Given the description of an element on the screen output the (x, y) to click on. 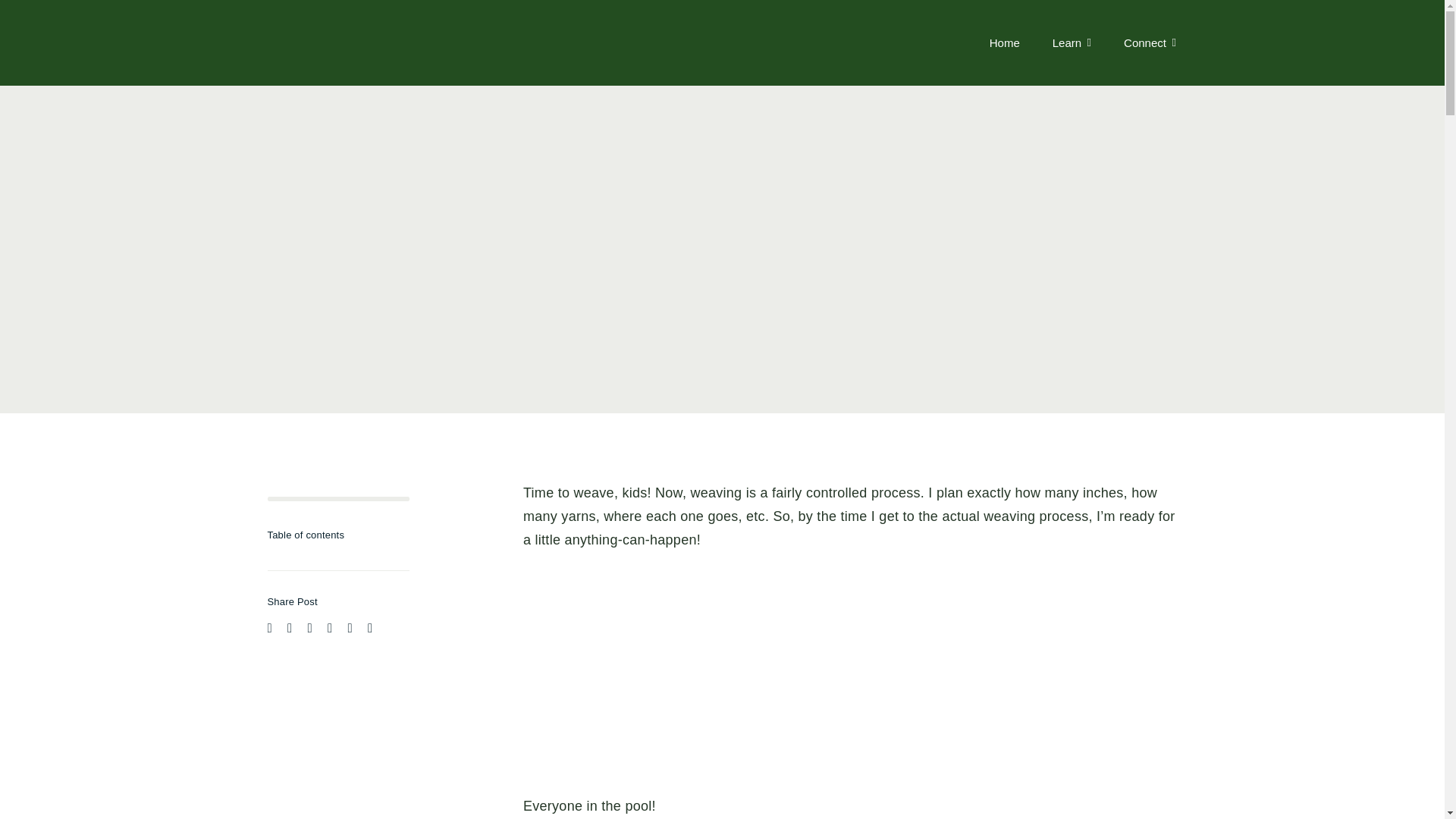
Home (1005, 42)
Connect (1150, 42)
Learn (1071, 42)
0 (337, 498)
